Given the description of an element on the screen output the (x, y) to click on. 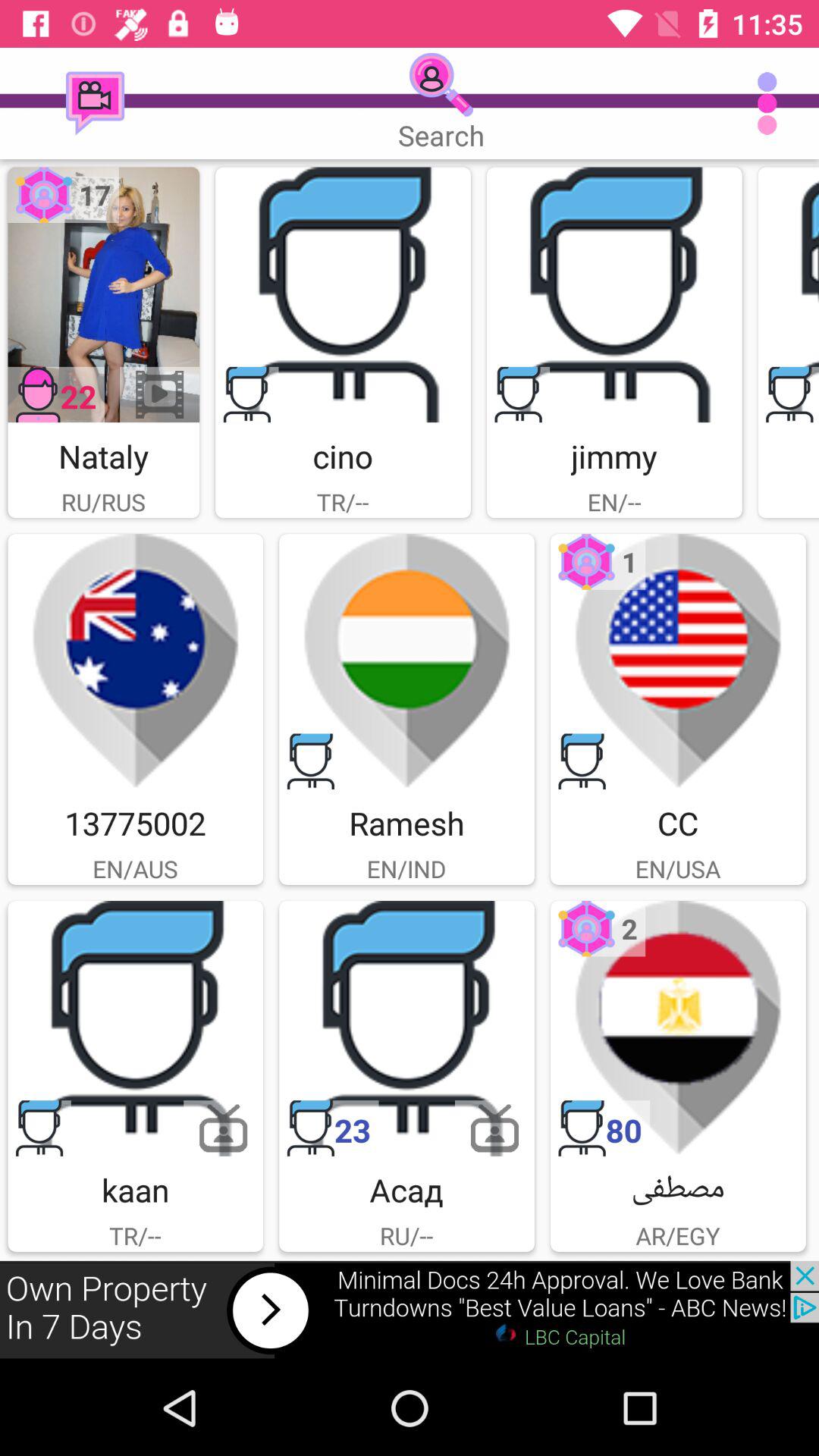
go to advertisement website (409, 1310)
